Given the description of an element on the screen output the (x, y) to click on. 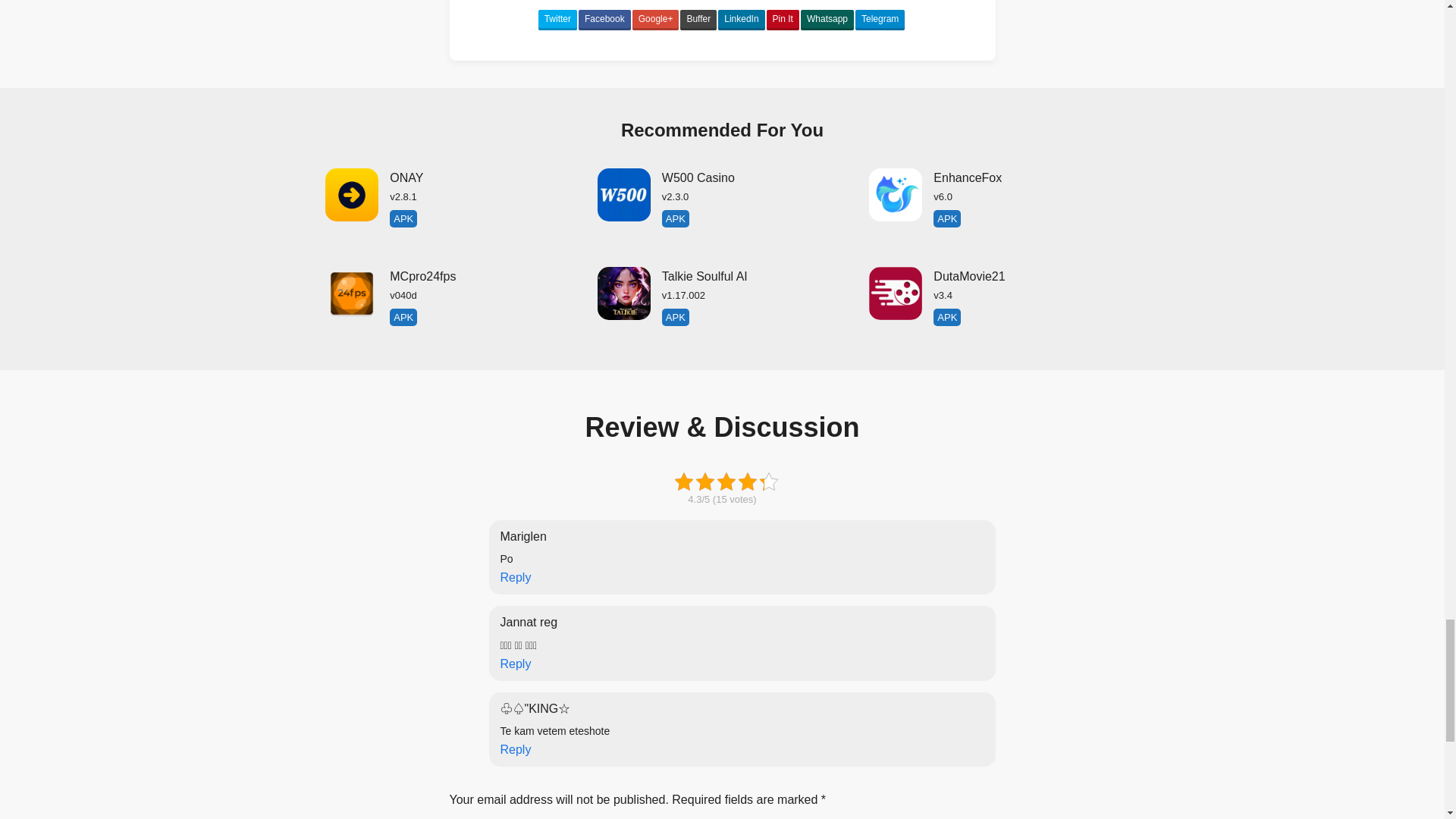
Pin It (783, 20)
Whatsapp (826, 20)
Telegram (880, 20)
Buffer (697, 20)
LinkedIn (740, 20)
Facebook (604, 20)
Twitter (557, 20)
